Given the description of an element on the screen output the (x, y) to click on. 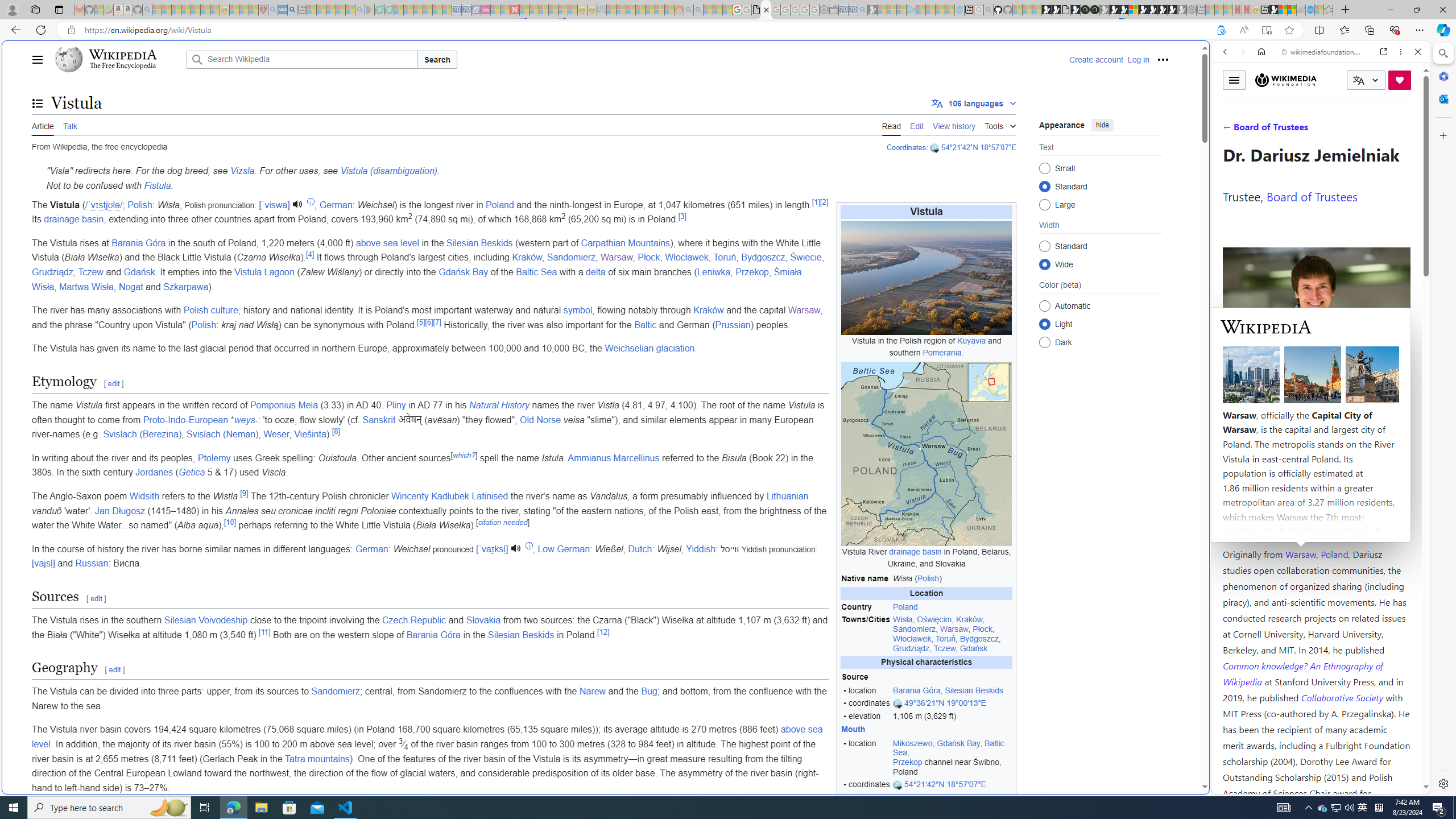
Old Norse (540, 419)
[10] (229, 521)
Yiddish (700, 548)
Latinised (489, 495)
Lithuanian (786, 495)
MSNBC - MSN - Sleeping (611, 9)
Support Wikipedia? (1220, 29)
Class: mw-list-item mw-list-item-js (1100, 323)
Weser (276, 434)
github - Search - Sleeping (988, 9)
Edit (917, 124)
